Given the description of an element on the screen output the (x, y) to click on. 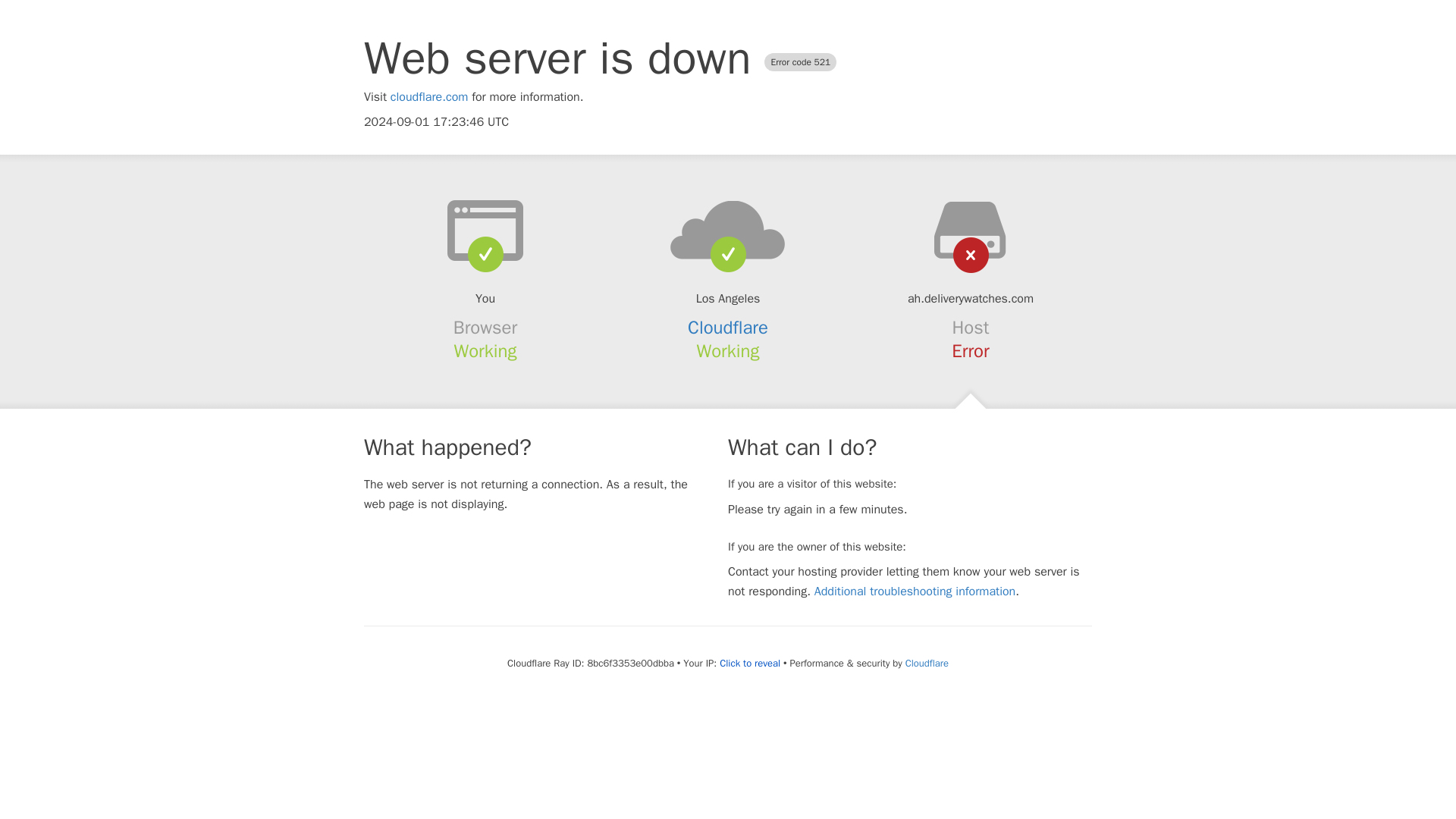
Cloudflare (927, 662)
Additional troubleshooting information (913, 590)
cloudflare.com (429, 96)
Cloudflare (727, 327)
Click to reveal (749, 663)
